Given the description of an element on the screen output the (x, y) to click on. 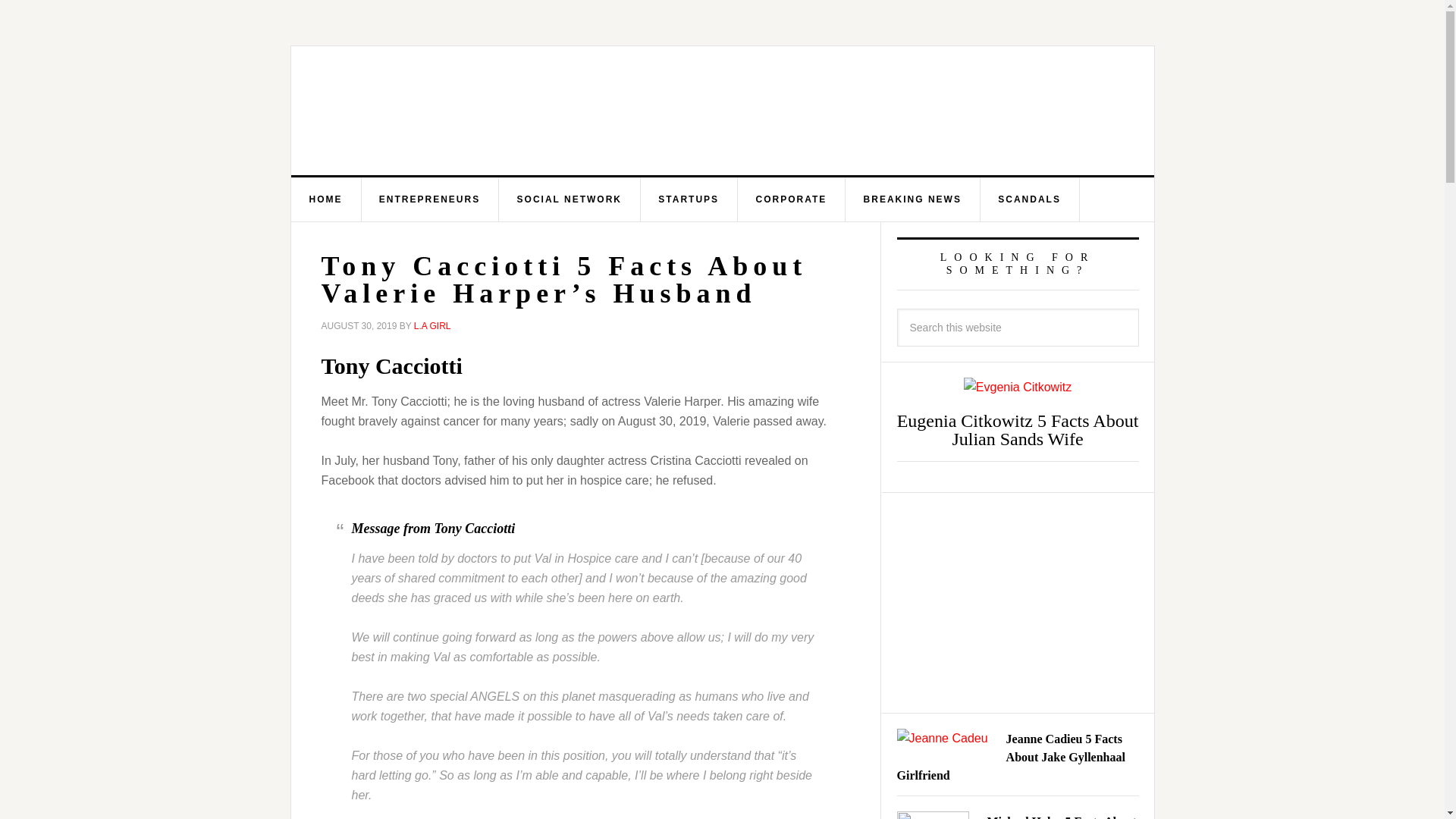
Jeanne Cadieu 5 Facts About Jake Gyllenhaal Girlfriend (1010, 757)
Michael Haley 5 Facts About Nikki Haley Husband (1062, 816)
ENTREPRENEURS (430, 199)
HOME (326, 199)
Advertisement (1017, 602)
L.A GIRL (432, 326)
Advertisement (835, 110)
WAGCENTER.COM (442, 110)
CORPORATE (790, 199)
BREAKING NEWS (912, 199)
Eugenia Citkowitz 5 Facts About Julian Sands Wife (1017, 429)
SCANDALS (1029, 199)
STARTUPS (689, 199)
SOCIAL NETWORK (569, 199)
